Given the description of an element on the screen output the (x, y) to click on. 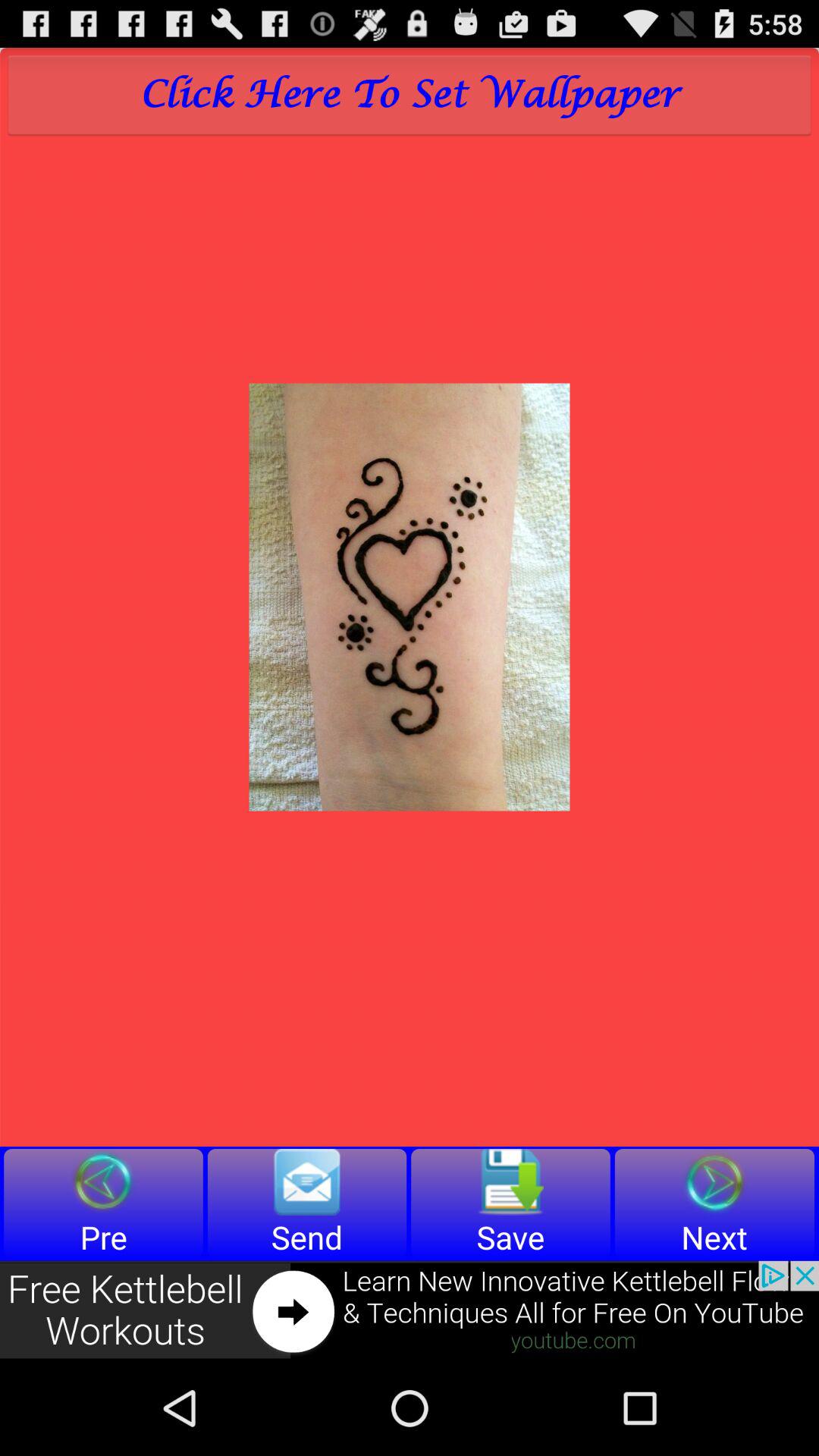
advertise (409, 1310)
